Given the description of an element on the screen output the (x, y) to click on. 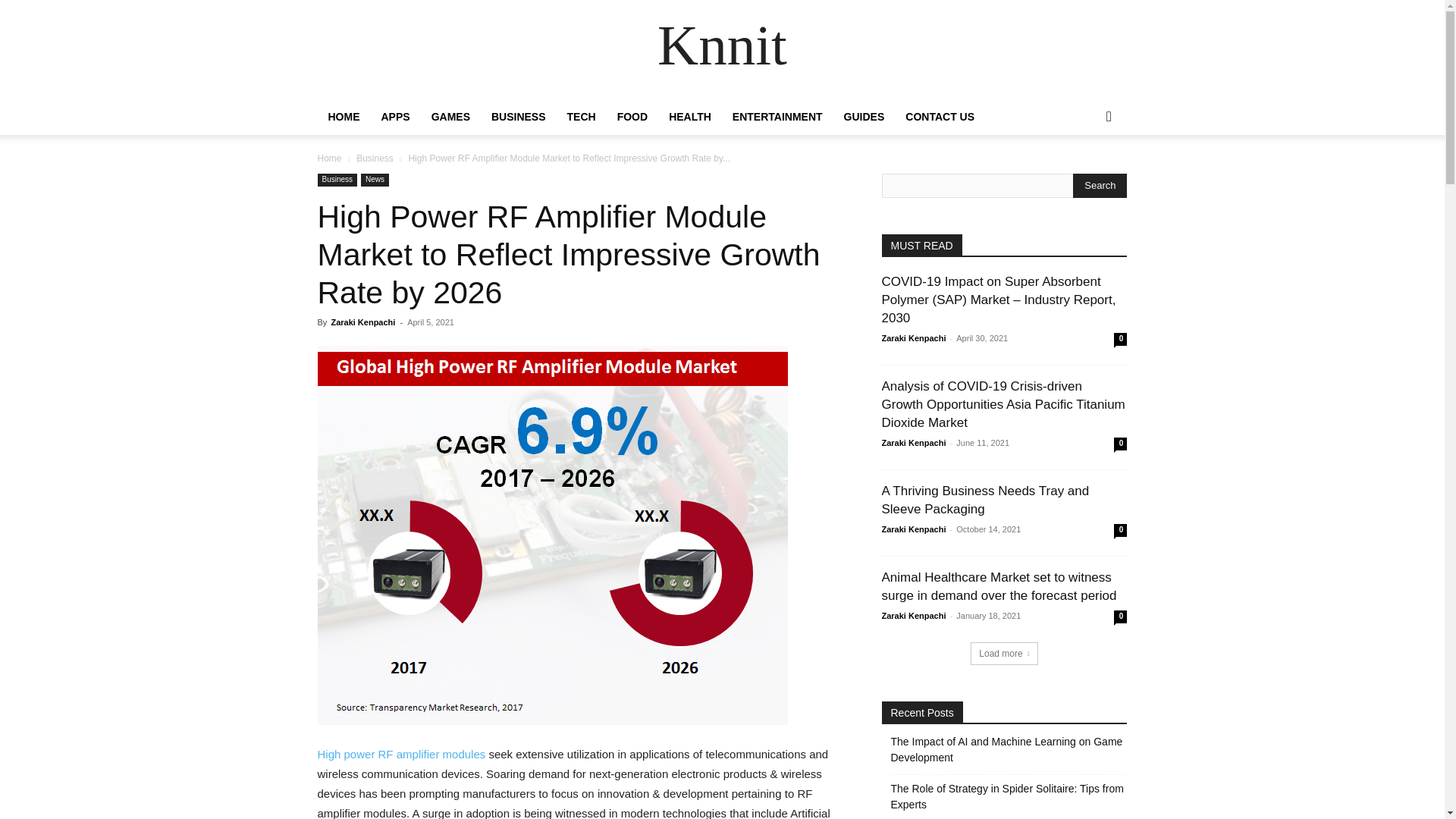
News (374, 179)
High power RF amplifier modules (400, 753)
Search (1099, 185)
View all posts in Business (374, 158)
TECH (581, 116)
Business (374, 158)
ENTERTAINMENT (777, 116)
GUIDES (863, 116)
APPS (394, 116)
Home (328, 158)
BUSINESS (518, 116)
CONTACT US (940, 116)
GAMES (450, 116)
